Given the description of an element on the screen output the (x, y) to click on. 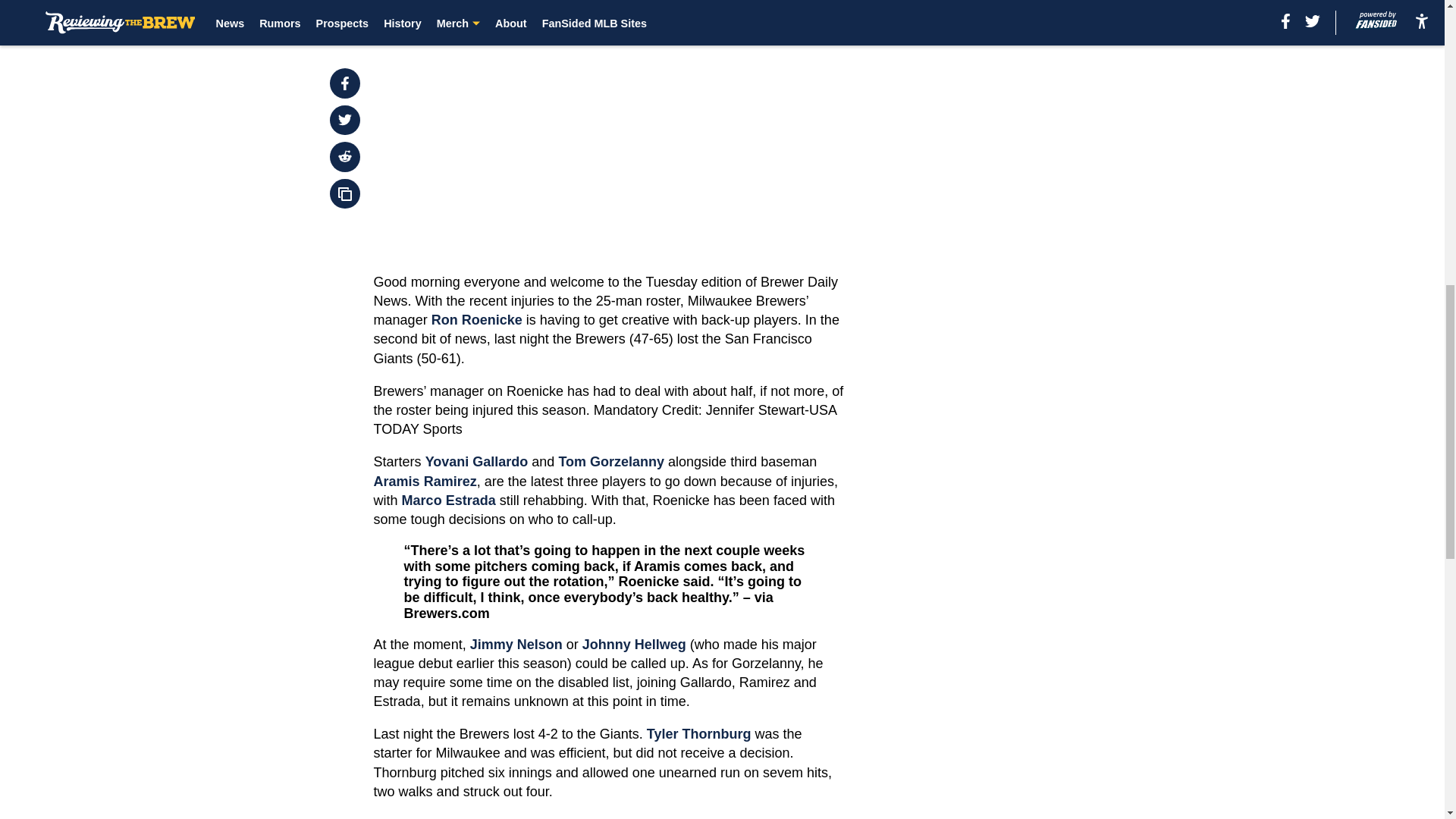
Marco Estrada (448, 500)
Aramis Ramirez (425, 481)
Johnny Hellweg (633, 644)
Ron Roenicke (476, 319)
Tyler Thornburg (698, 734)
John Axford (608, 817)
Yovani Gallardo (476, 461)
Jimmy Nelson (516, 644)
Tom Gorzelanny (610, 461)
